Given the description of an element on the screen output the (x, y) to click on. 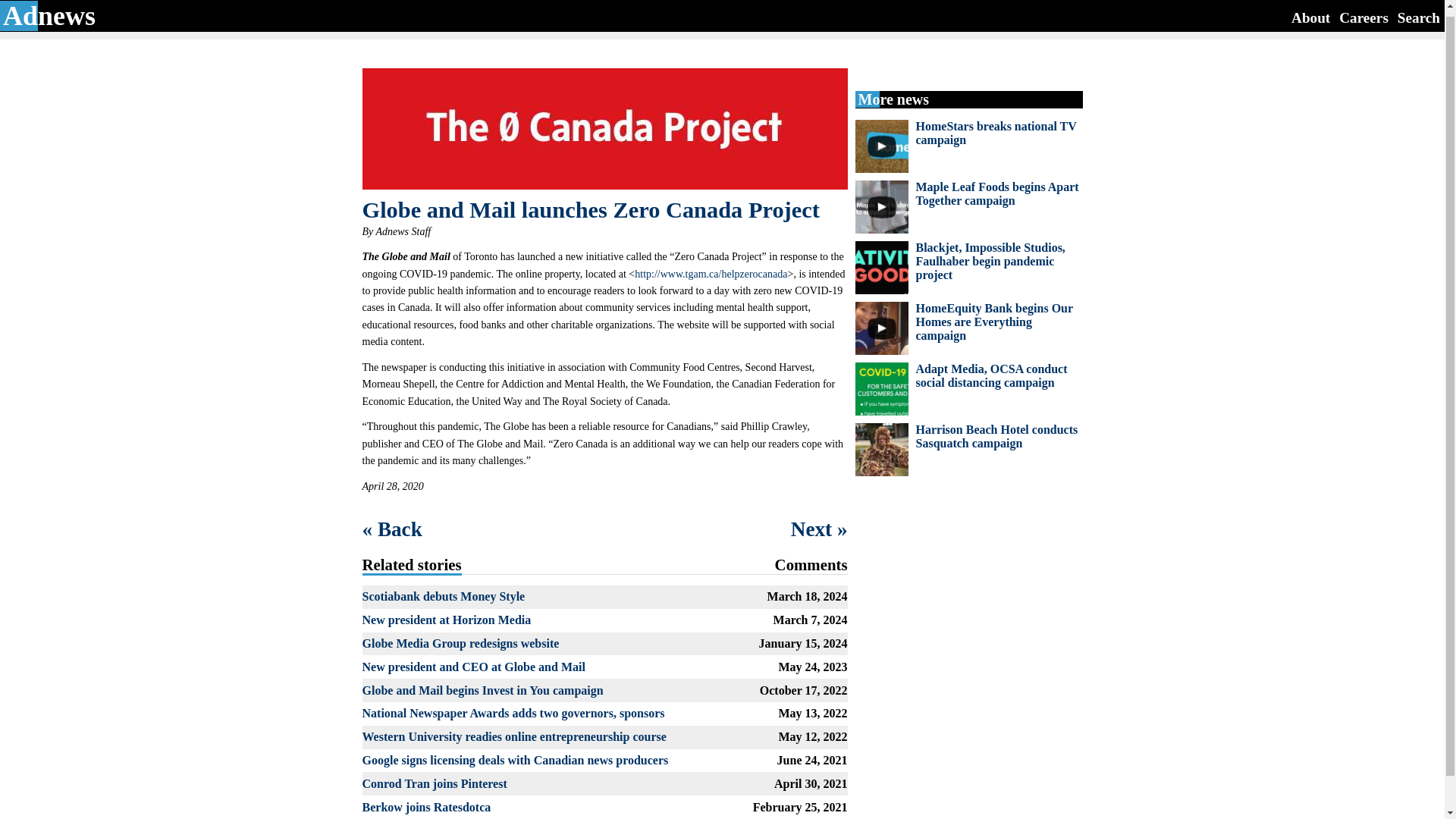
Globe and Mail begins Invest in You campaign (483, 689)
Search (1418, 11)
Conrod Tran joins Pinterest (434, 783)
New president and CEO at Globe and Mail (473, 666)
Western University readies online entrepreneurship course (514, 736)
Scotiabank debuts Money Style (443, 595)
Careers (1364, 11)
Google signs licensing deals with Canadian news producers (515, 759)
National Newspaper Awards adds two governors, sponsors (513, 712)
HomeStars breaks national TV campaign (996, 132)
Globe Media Group redesigns website (460, 643)
Adapt Media, OCSA conduct social distancing campaign (991, 375)
About (1310, 11)
New president at Horizon Media (446, 619)
